Given the description of an element on the screen output the (x, y) to click on. 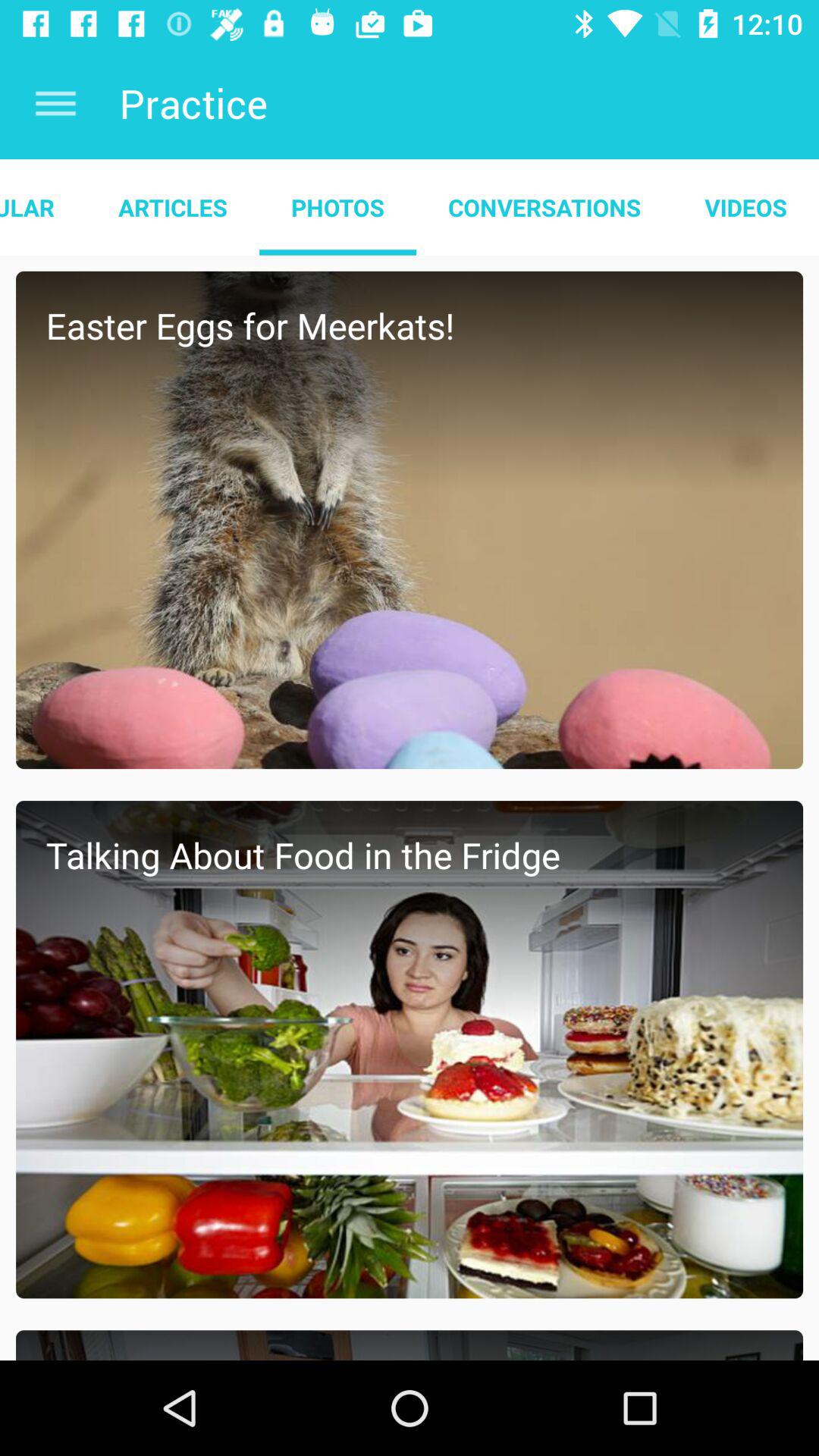
turn off the app to the right of the popular app (172, 207)
